Given the description of an element on the screen output the (x, y) to click on. 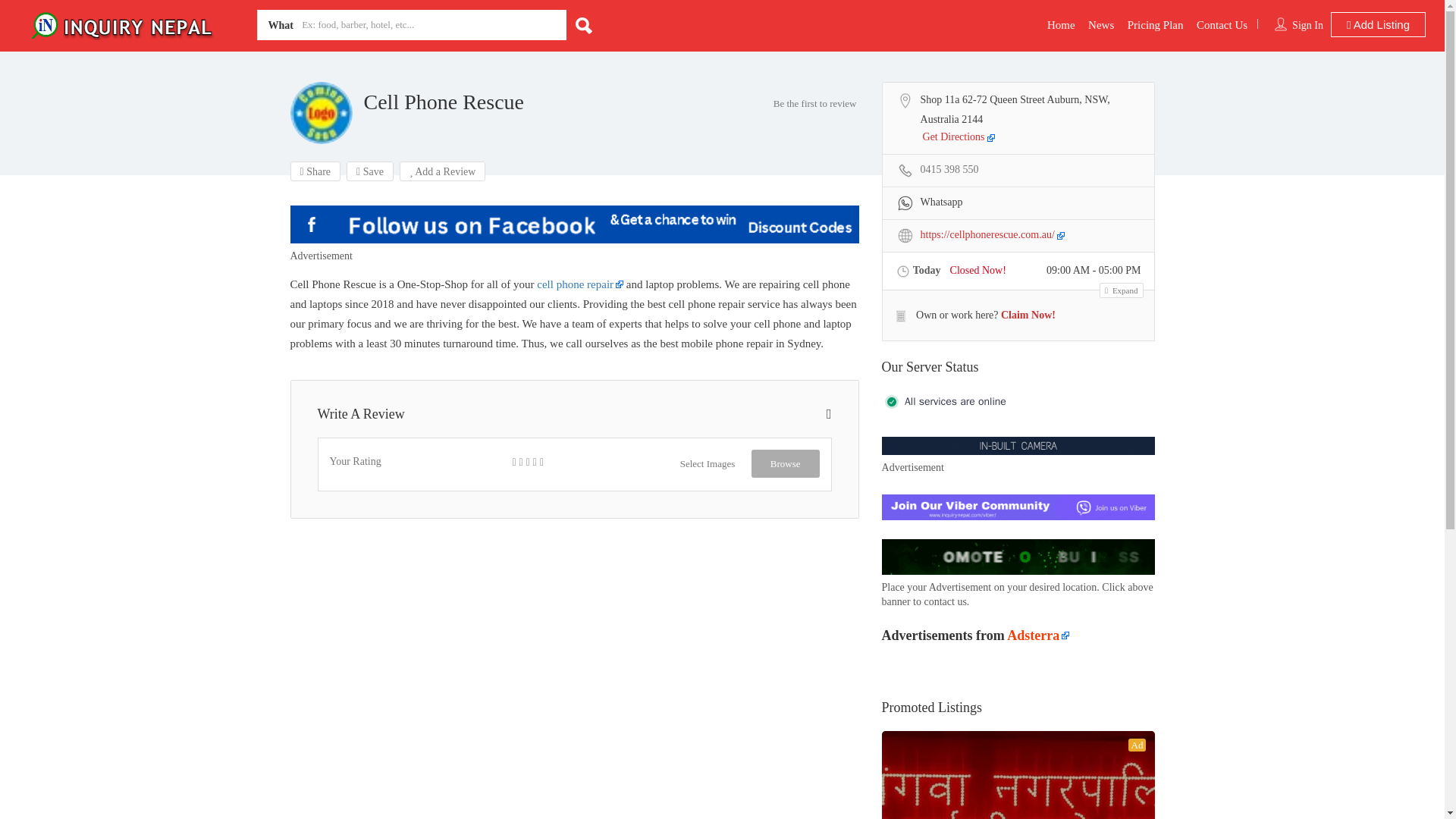
Home (1060, 24)
Share (314, 170)
Submit (413, 502)
News (1100, 24)
Pricing Plan (1154, 24)
Sign In (1307, 25)
Get Directions (958, 137)
Browse (785, 463)
cell phone repair (580, 284)
Save (369, 170)
Contact Us (1221, 24)
Add a Review (442, 170)
Whatsapp (930, 202)
Add Listing (1377, 24)
0415 398 550 (949, 170)
